Given the description of an element on the screen output the (x, y) to click on. 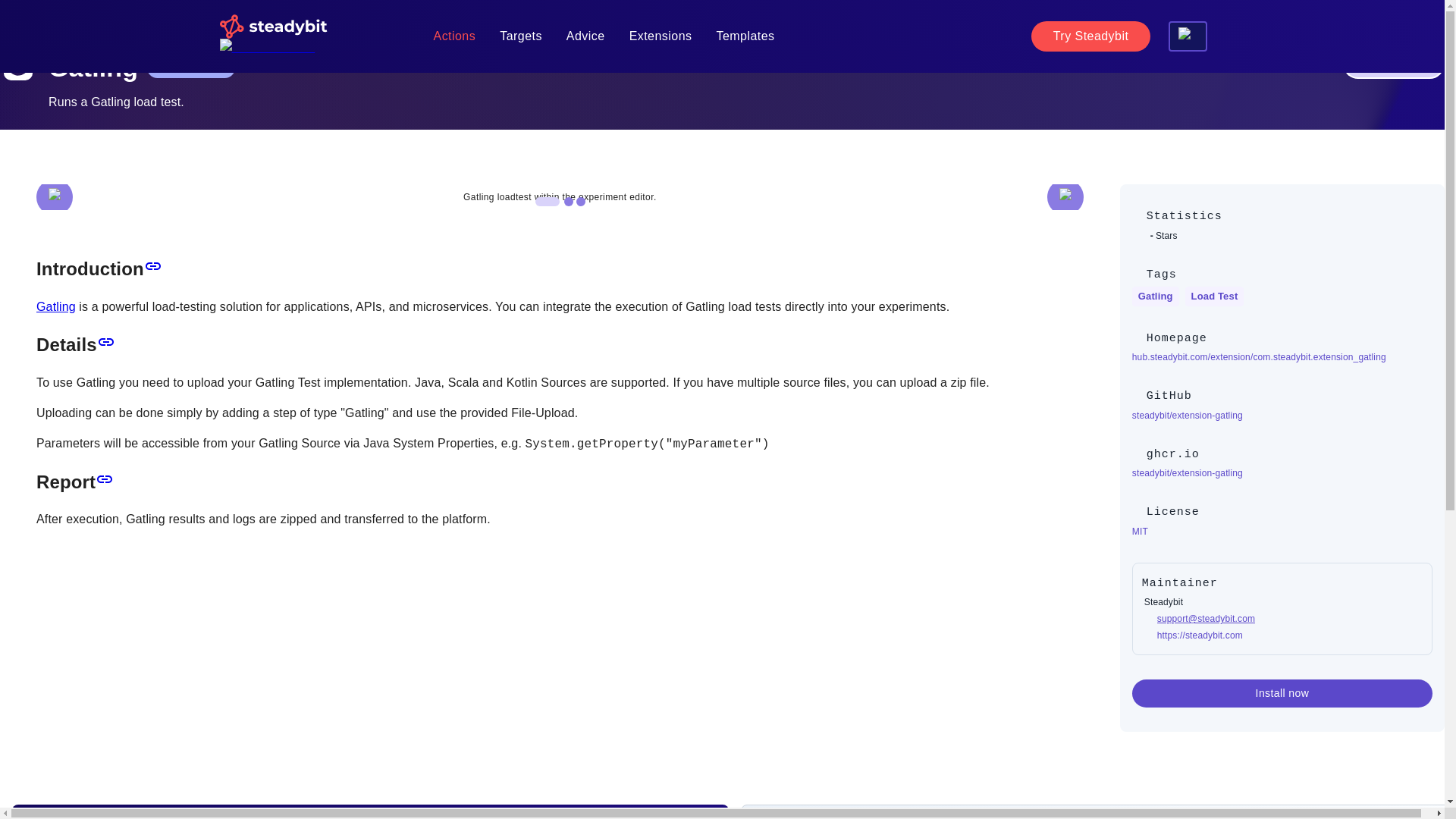
List of actions (454, 36)
List of templates (745, 36)
List of advice (585, 36)
Install now (1393, 63)
MIT (1282, 531)
Actions (454, 36)
Templates (745, 36)
Advice (585, 36)
Create a Steadybit account (1090, 36)
Check out the database behind the reliability hub (1188, 36)
